Given the description of an element on the screen output the (x, y) to click on. 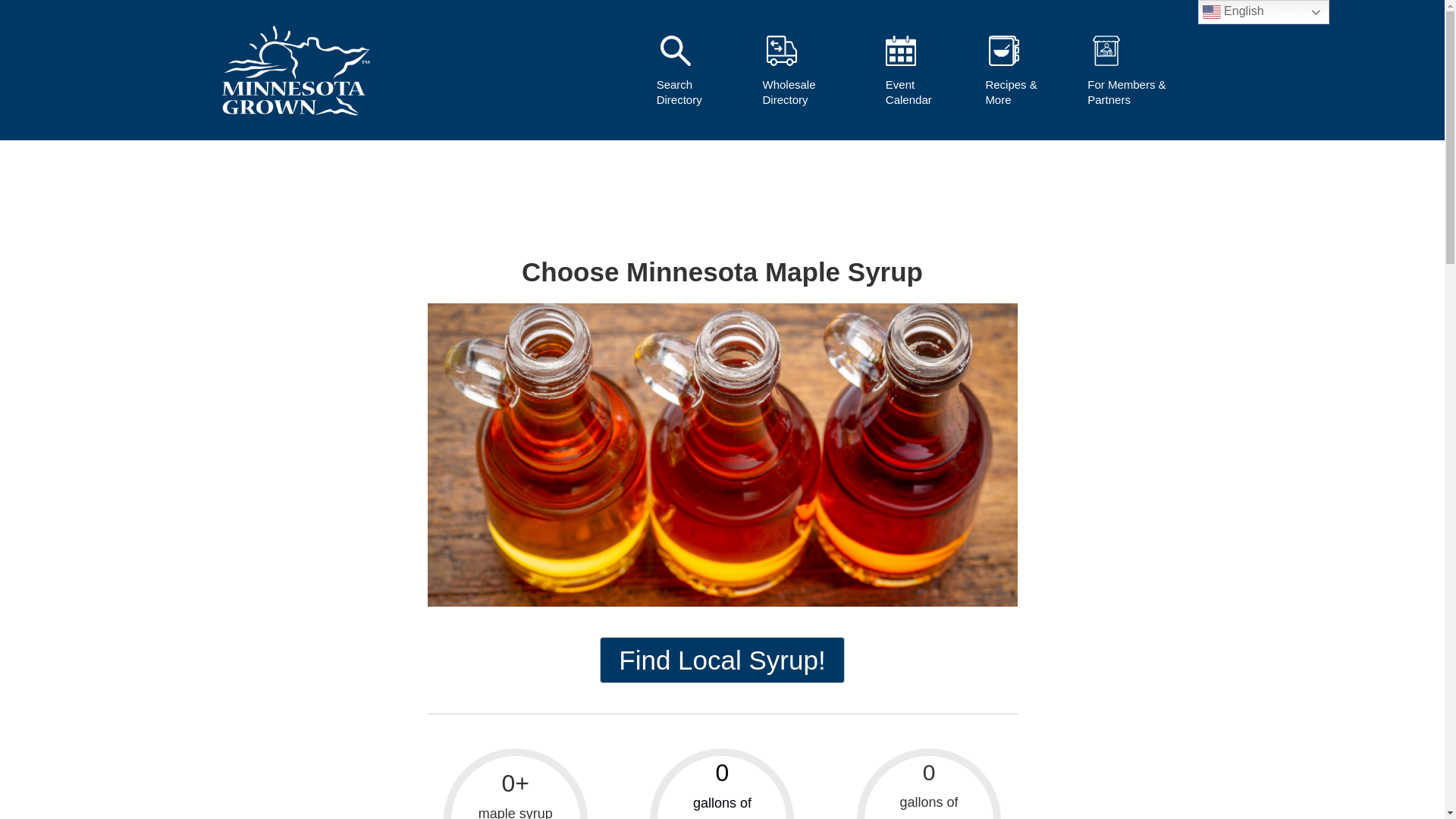
Find Local Syrup! (721, 660)
Search Directory (699, 77)
Wholesale Directory (813, 77)
Minnesota Grown (259, 129)
Event Calendar (925, 77)
